Given the description of an element on the screen output the (x, y) to click on. 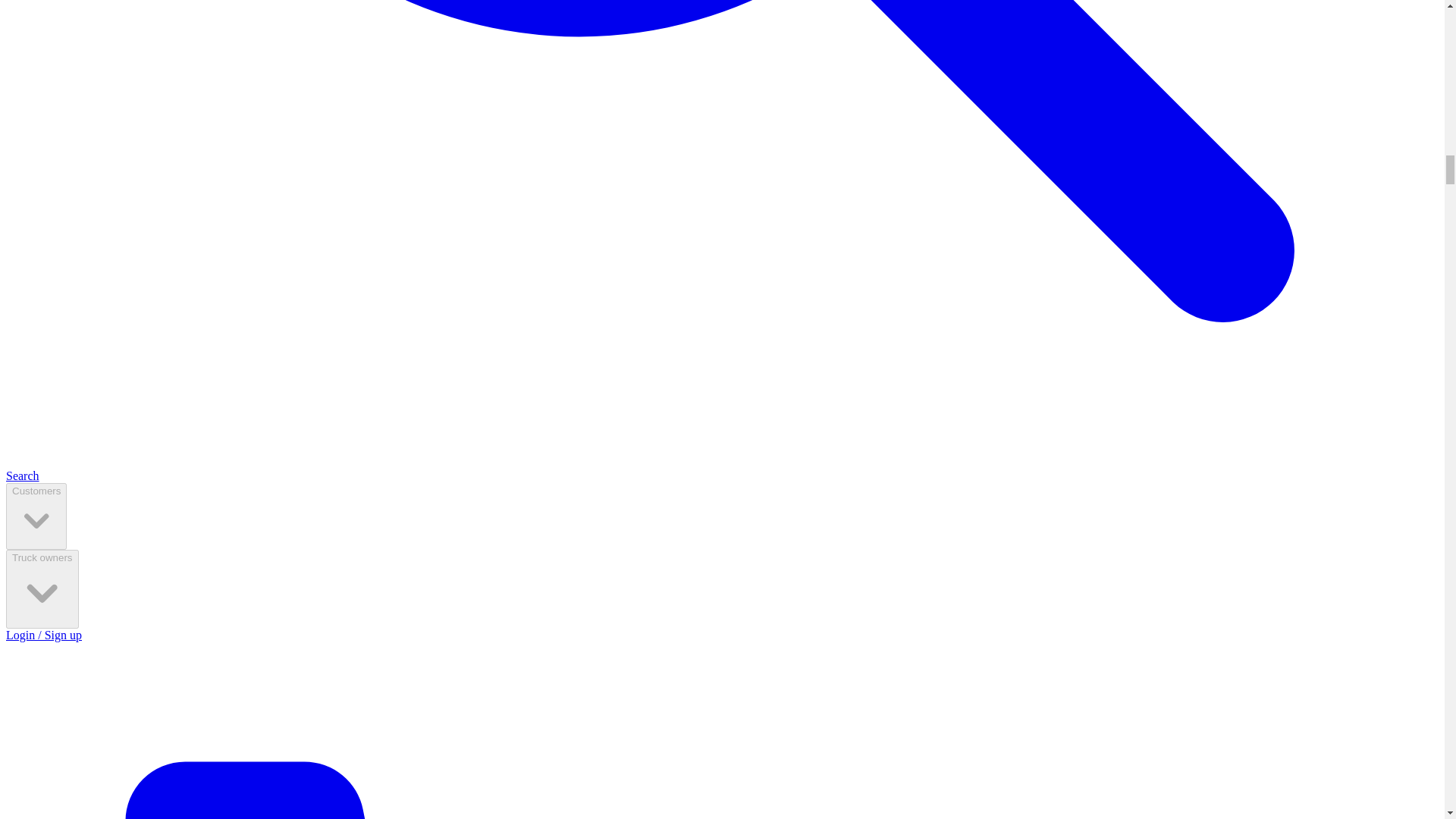
Customers (35, 516)
Truck owners (41, 588)
